Given the description of an element on the screen output the (x, y) to click on. 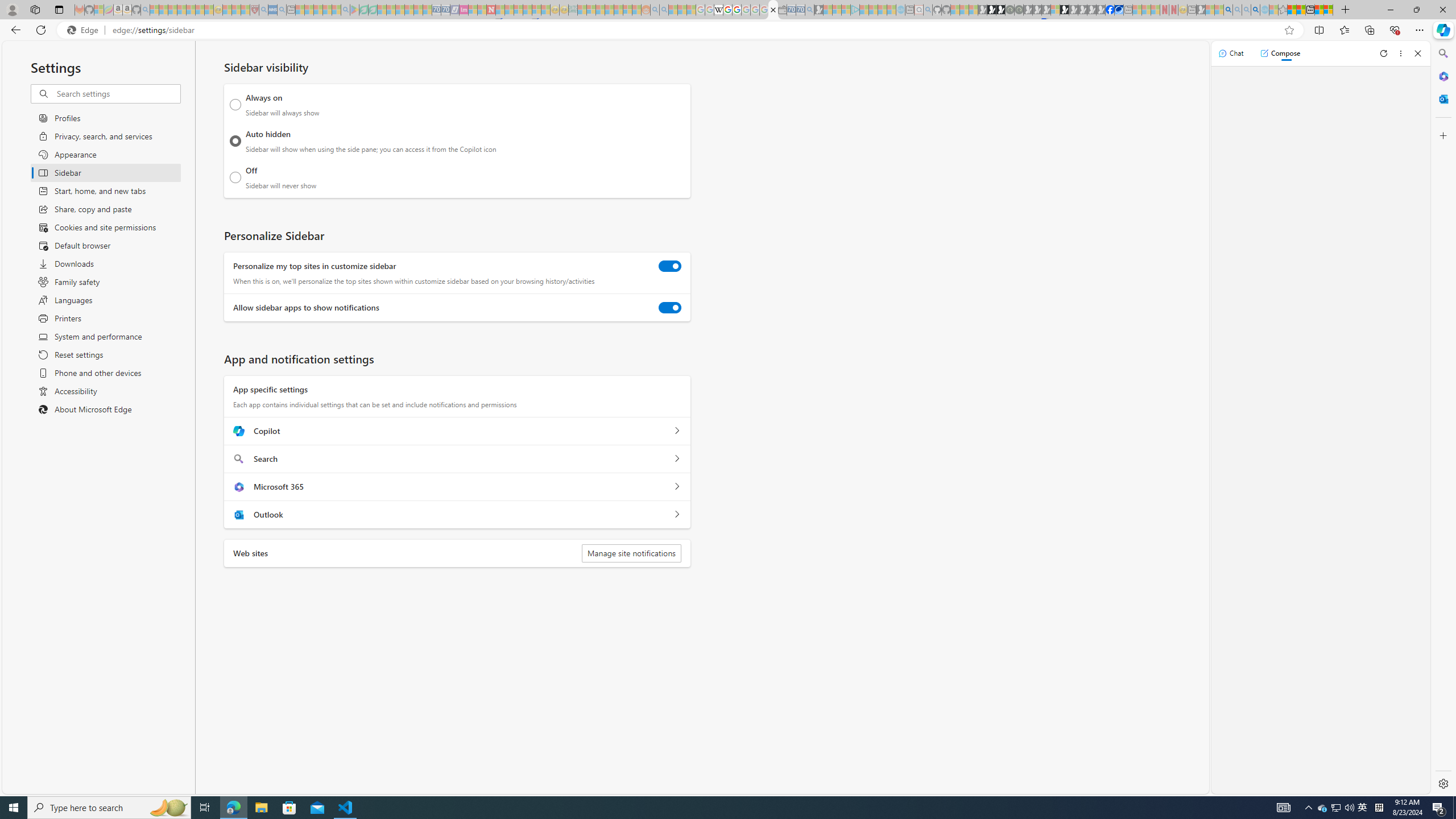
Google Chrome Internet Browser Download - Search Images (1255, 9)
Allow sidebar apps to show notifications (669, 307)
Compose (1279, 52)
MSN - Sleeping (1200, 9)
Copilot (676, 430)
